Given the description of an element on the screen output the (x, y) to click on. 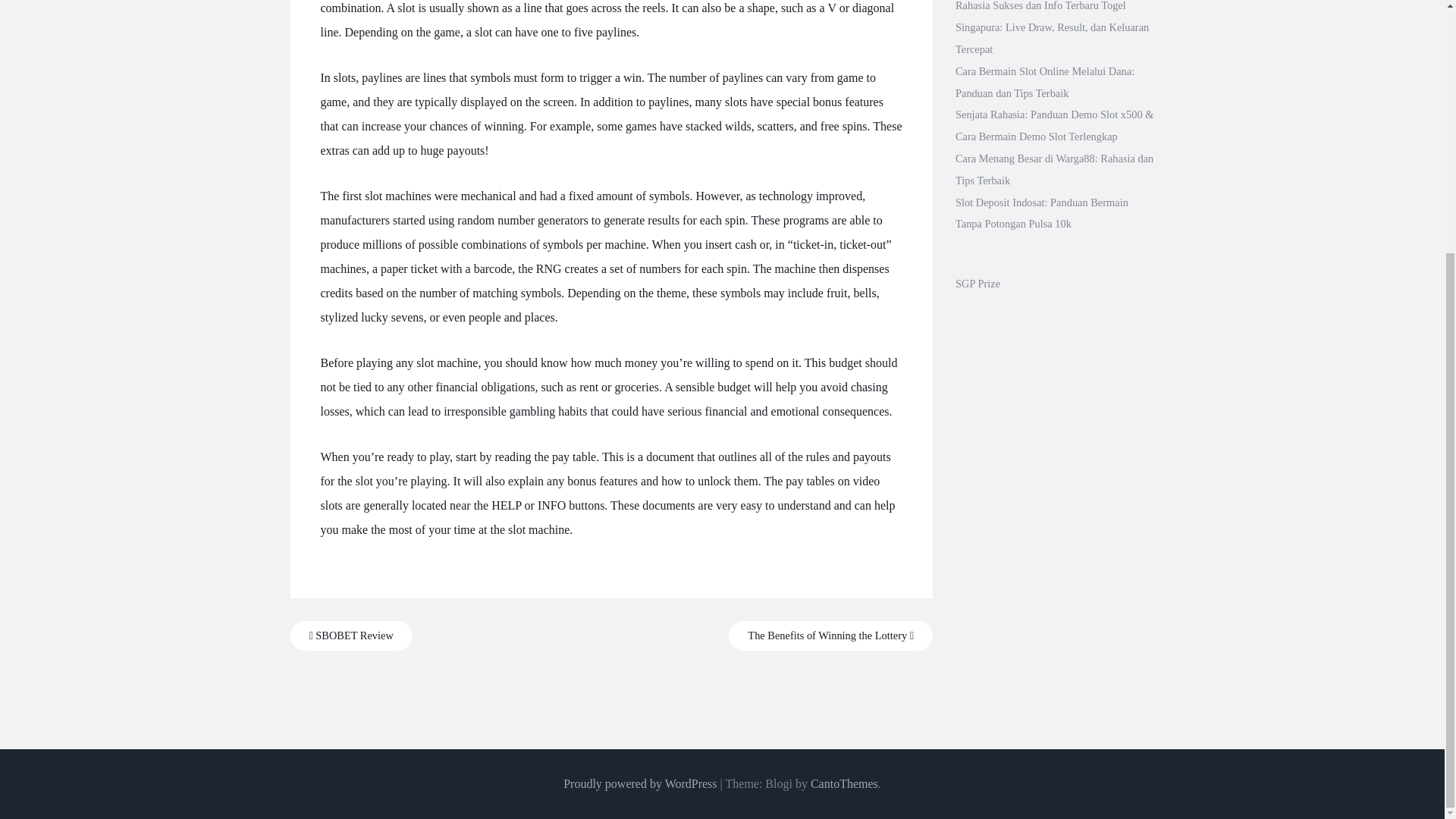
CantoThemes (843, 783)
SGP Prize (977, 283)
Proudly powered by WordPress (639, 783)
Cara Menang Besar di Warga88: Rahasia dan Tips Terbaik (1054, 169)
The Benefits of Winning the Lottery (831, 635)
SBOBET Review (350, 635)
